Given the description of an element on the screen output the (x, y) to click on. 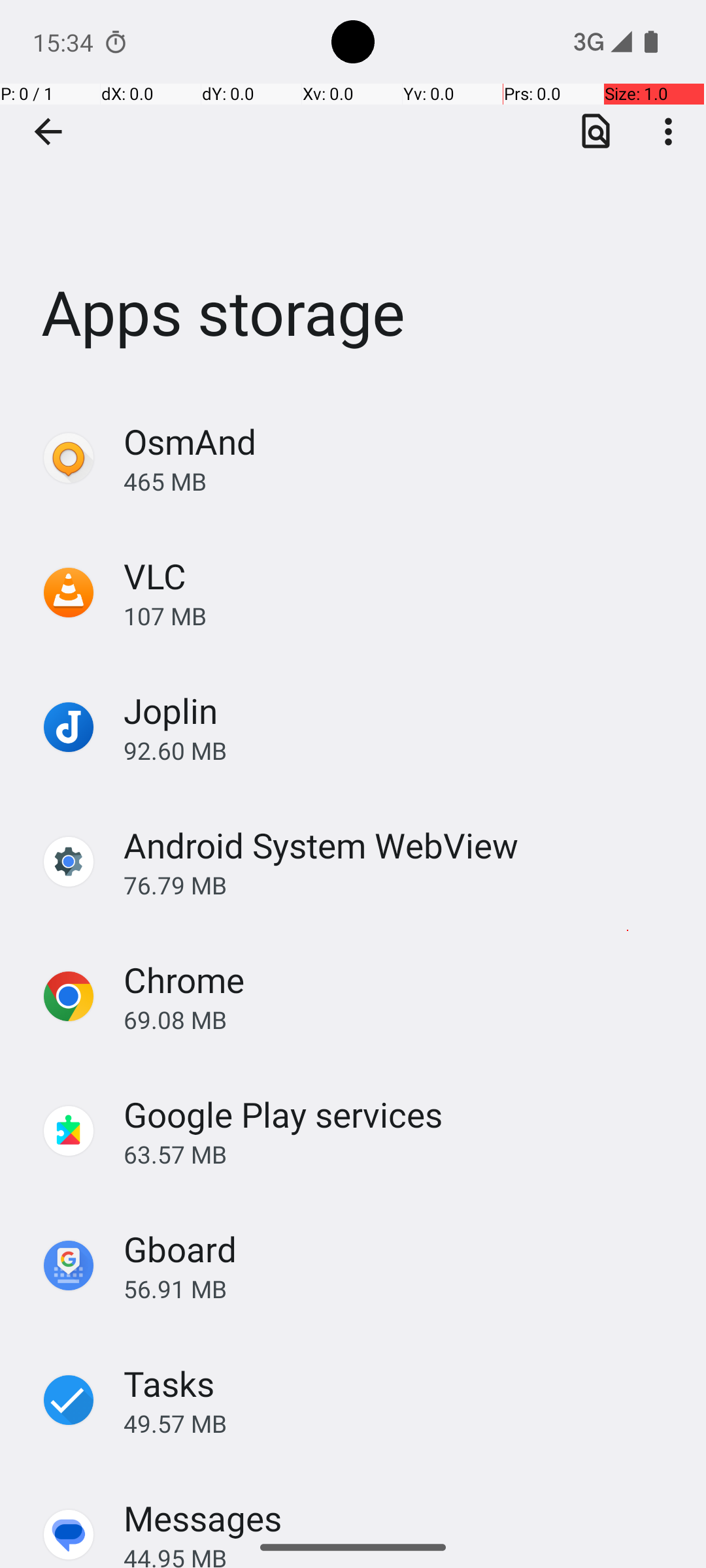
Apps storage Element type: android.widget.FrameLayout (353, 195)
465 MB Element type: android.widget.TextView (400, 480)
107 MB Element type: android.widget.TextView (400, 615)
92.60 MB Element type: android.widget.TextView (400, 750)
76.79 MB Element type: android.widget.TextView (400, 884)
69.08 MB Element type: android.widget.TextView (400, 1019)
63.57 MB Element type: android.widget.TextView (400, 1153)
Gboard Element type: android.widget.TextView (179, 1248)
56.91 MB Element type: android.widget.TextView (400, 1288)
49.57 MB Element type: android.widget.TextView (400, 1422)
